Given the description of an element on the screen output the (x, y) to click on. 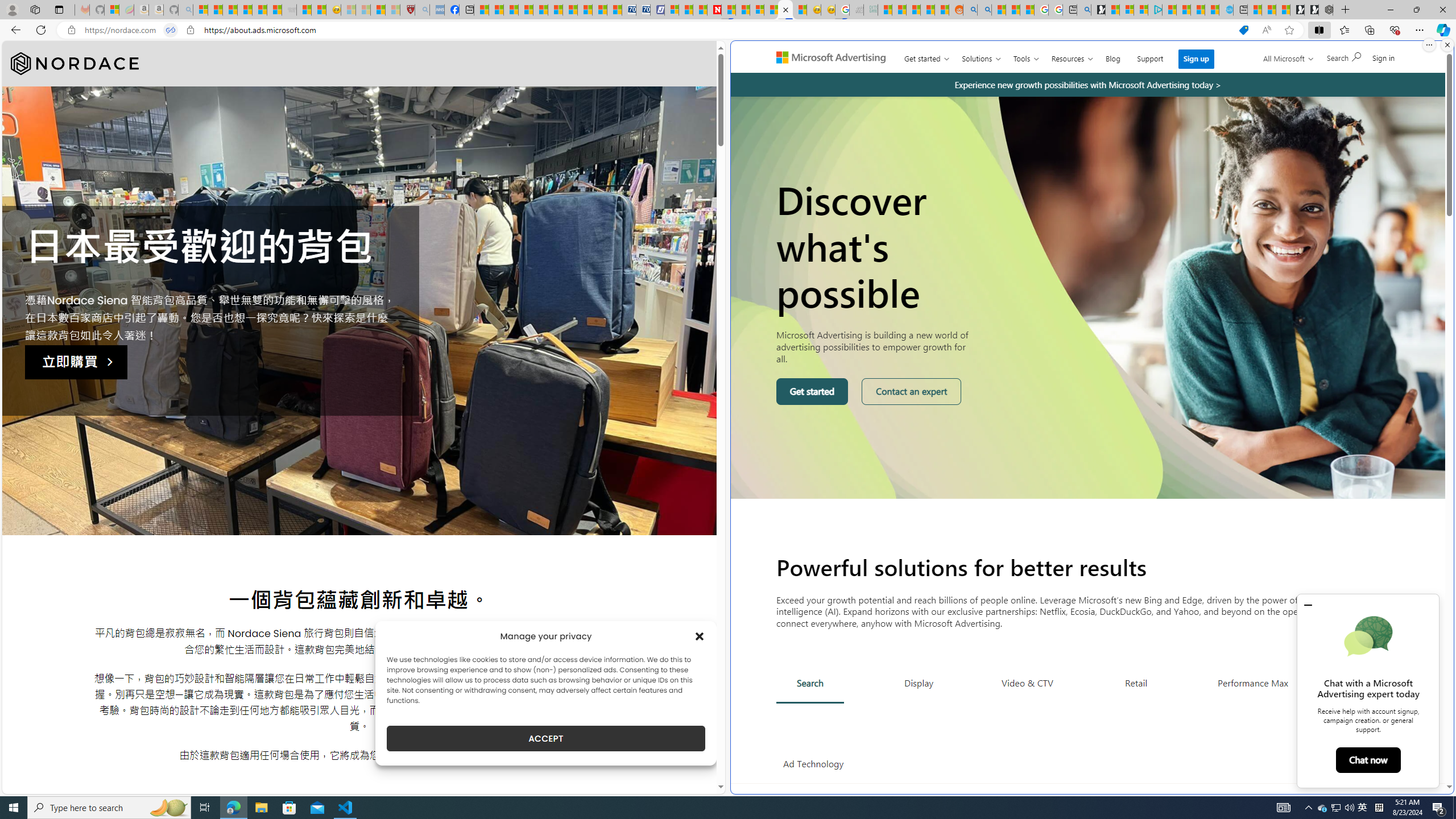
Science - MSN (377, 9)
Split screen (1318, 29)
Shopping in Microsoft Edge (1243, 29)
Minimize (1390, 9)
Close (1442, 9)
Get started (812, 391)
Retail (1136, 682)
Read aloud this page (Ctrl+Shift+U) (1266, 29)
Display (918, 682)
close (1308, 605)
